Given the description of an element on the screen output the (x, y) to click on. 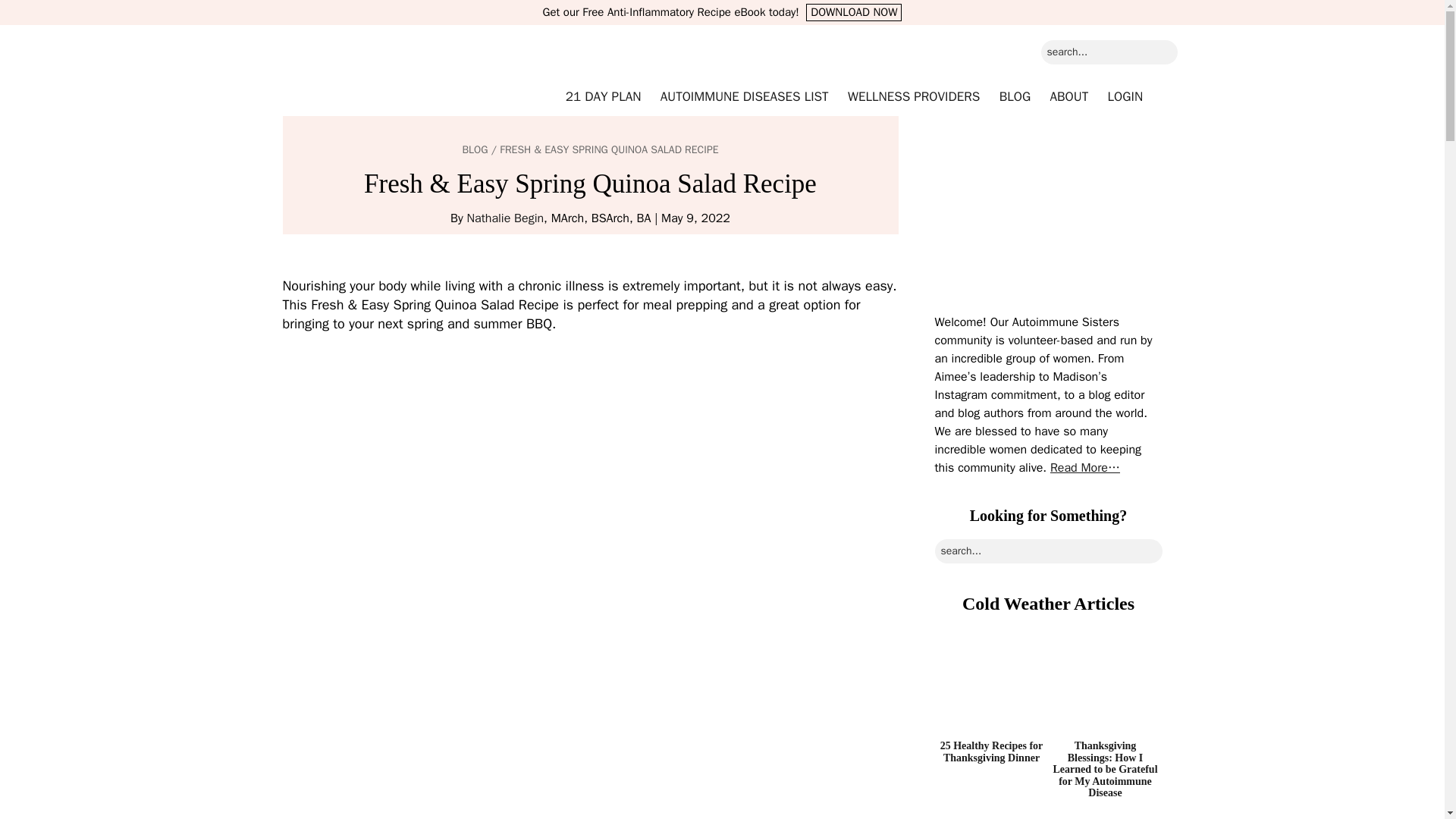
DOWNLOAD NOW (853, 12)
AUTOIMMUNE DISEASES LIST (743, 96)
Search (1187, 46)
BLOG (474, 149)
ABOUT (1069, 96)
BLOG (1014, 96)
Search (1187, 46)
Autoimmune Sisters (380, 81)
WELLNESS PROVIDERS (913, 96)
LOGIN (1125, 96)
Nathalie Begin (504, 218)
21 DAY PLAN (603, 96)
Search (1187, 46)
